Given the description of an element on the screen output the (x, y) to click on. 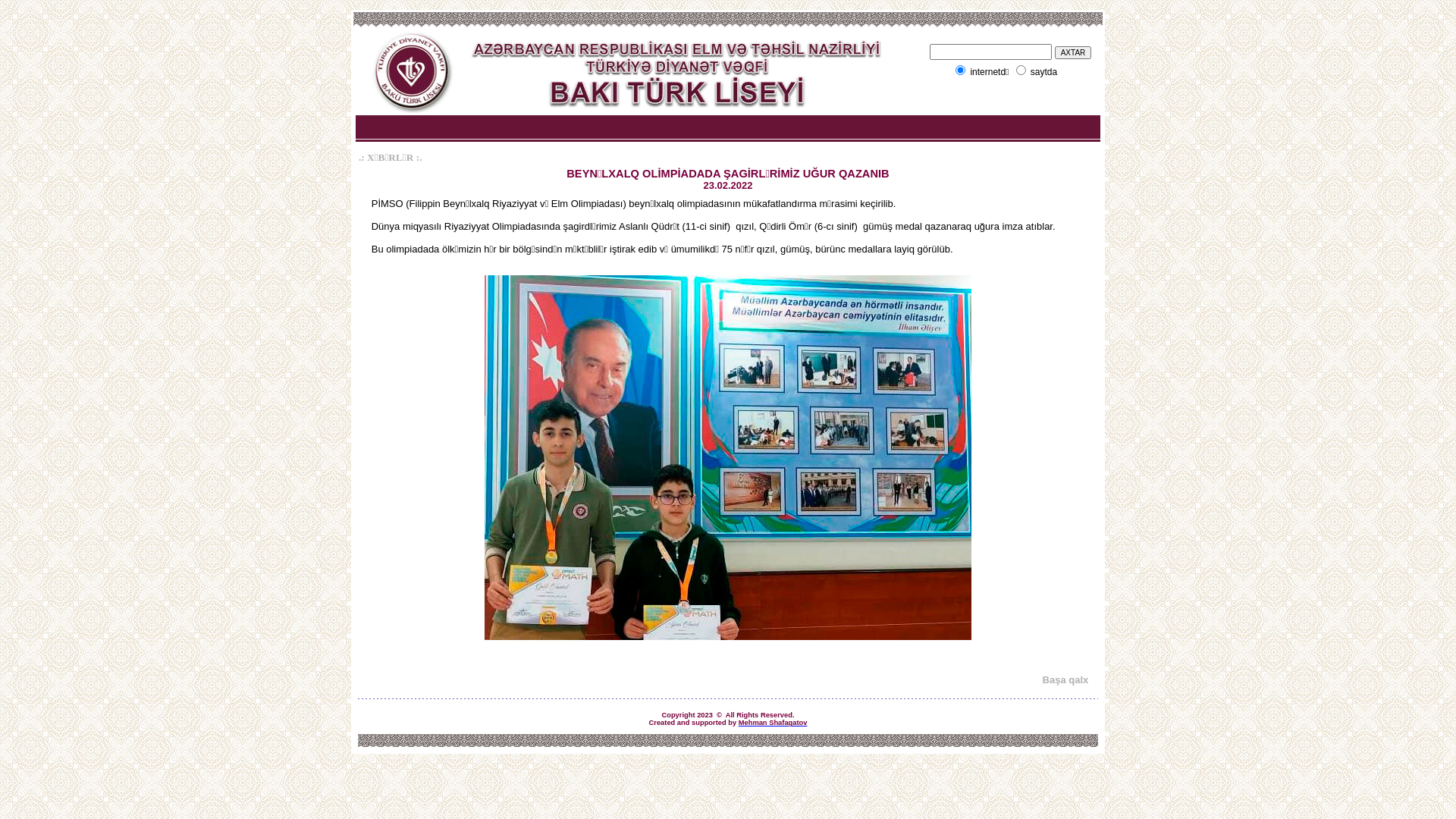
AXTAR Element type: text (1073, 51)
Mehman Shafagatov Element type: text (772, 722)
